Given the description of an element on the screen output the (x, y) to click on. 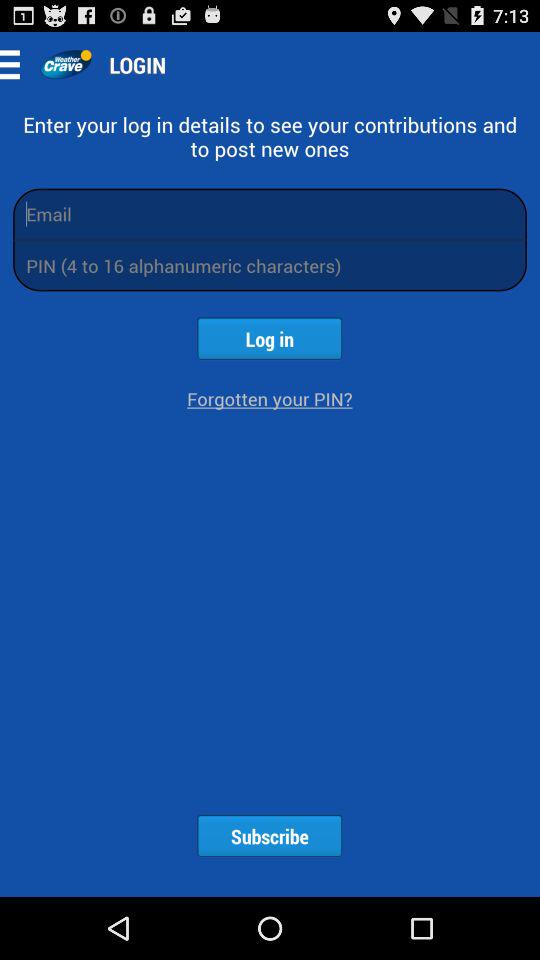
tap the forgotten your pin? app (269, 398)
